Given the description of an element on the screen output the (x, y) to click on. 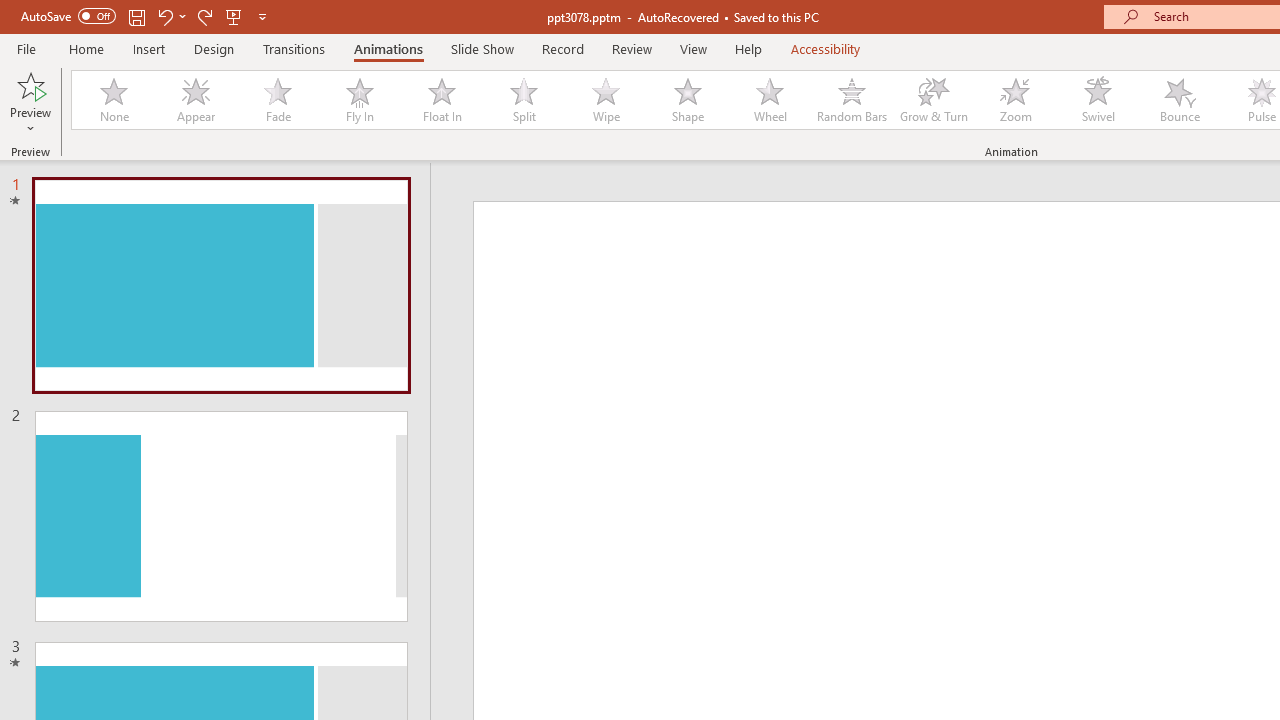
Shape (687, 100)
Preview (30, 102)
Grow & Turn (934, 100)
Float In (441, 100)
